Given the description of an element on the screen output the (x, y) to click on. 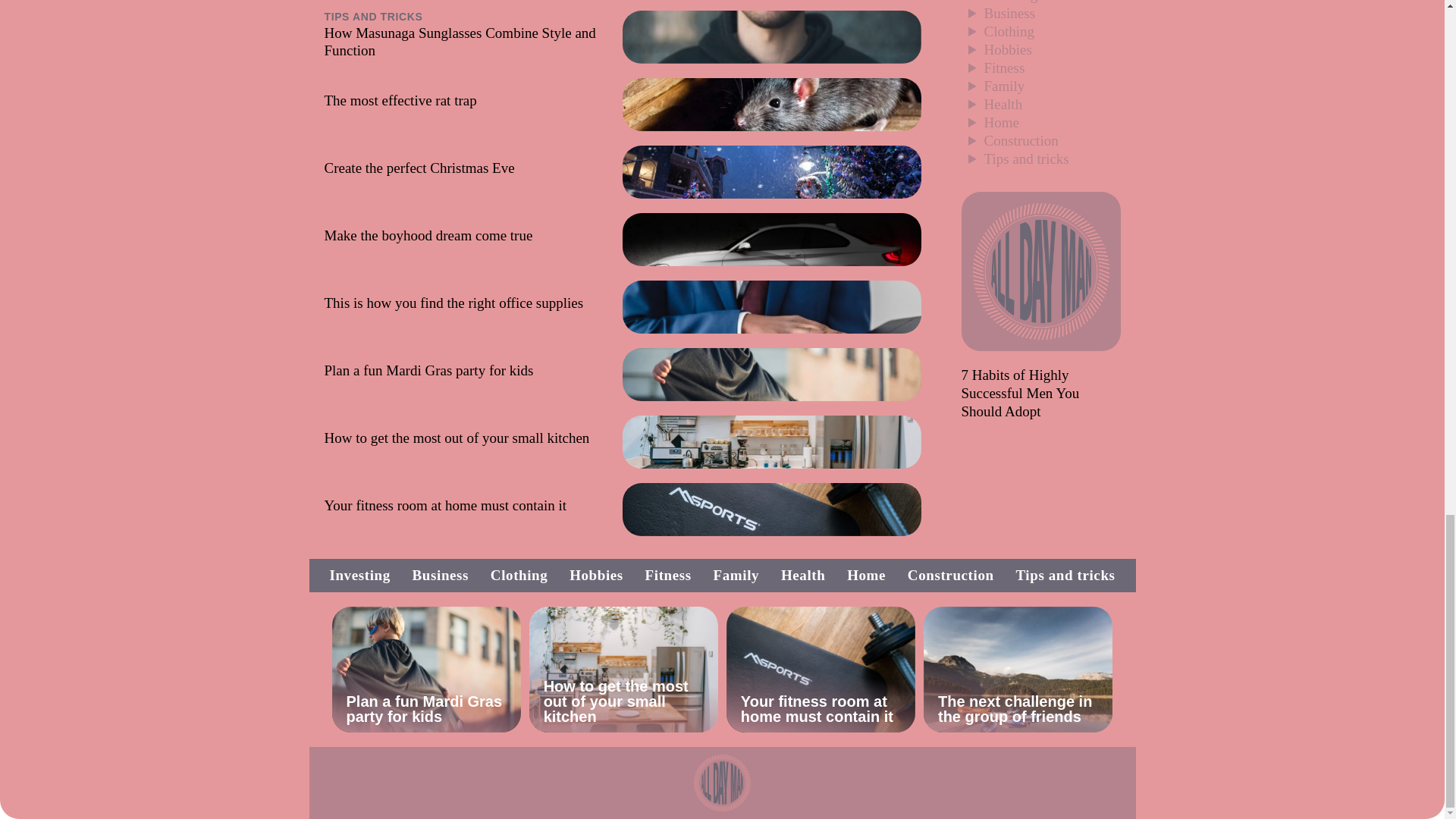
Family (1004, 85)
Investing (359, 575)
Fitness (1004, 67)
Health (1003, 104)
Business (1009, 12)
Construction (1021, 140)
Investing (1011, 1)
7 Habits of Highly Successful Men You Should Adopt (1020, 392)
Tips and tricks (1026, 158)
Home (1001, 122)
